Given the description of an element on the screen output the (x, y) to click on. 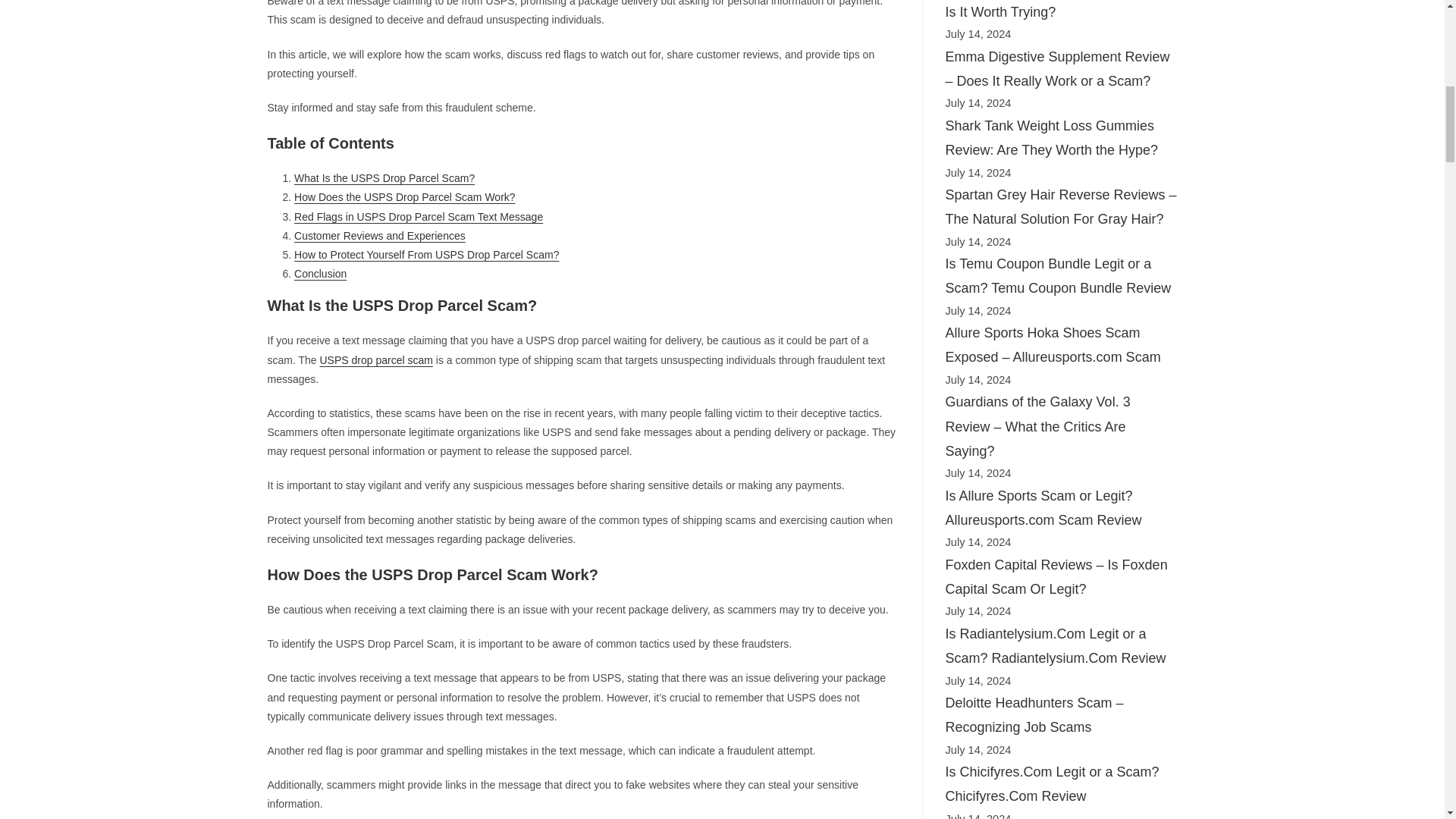
How Does the USPS Drop Parcel Scam Work? (404, 196)
Customer Reviews and Experiences (379, 235)
Red Flags in USPS Drop Parcel Scam Text Message (418, 216)
How to Protect Yourself From USPS Drop Parcel Scam? (426, 254)
What Is the USPS Drop Parcel Scam? (384, 177)
USPS drop parcel scam (376, 359)
Conclusion (320, 273)
